Given the description of an element on the screen output the (x, y) to click on. 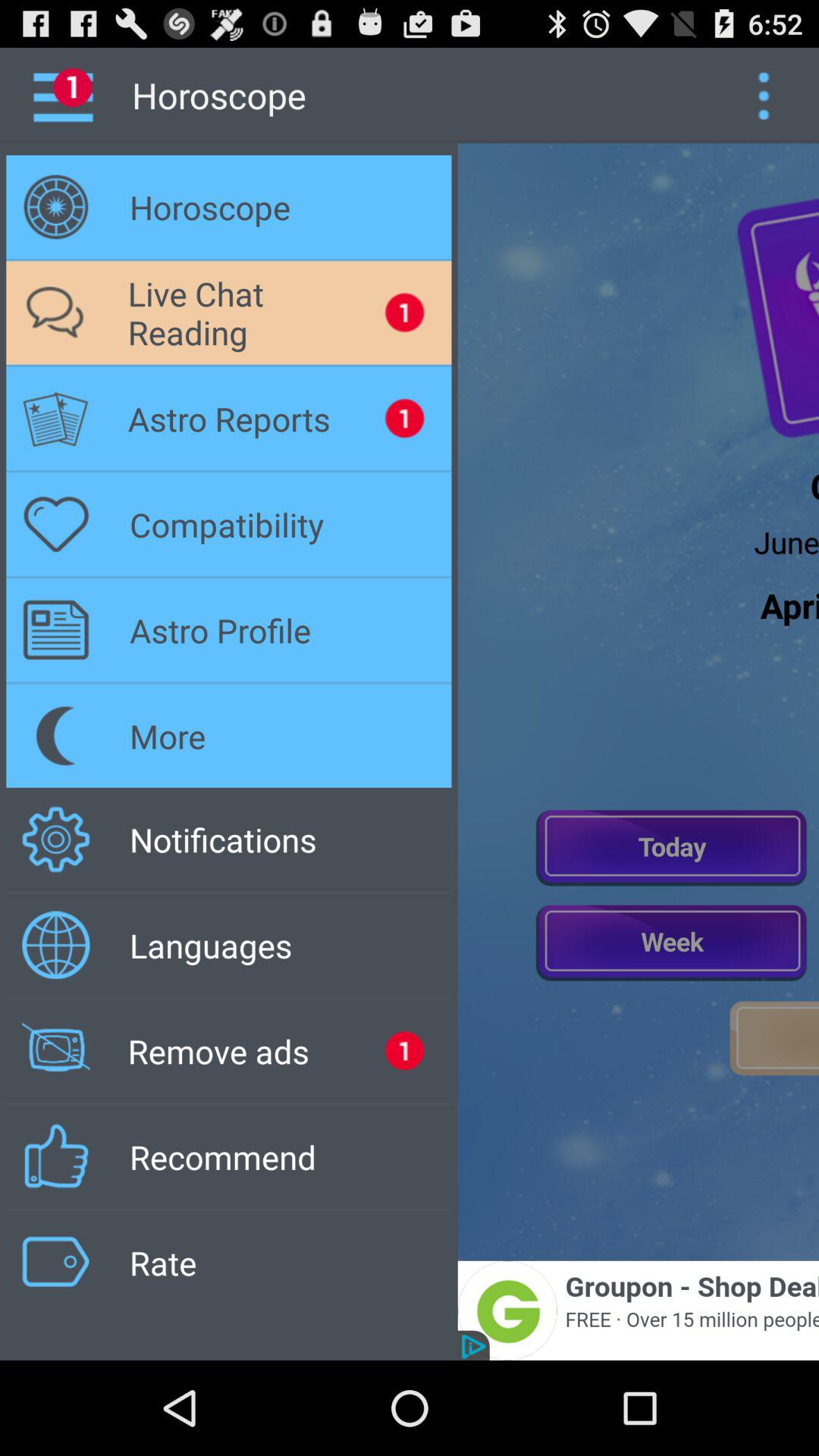
view current day information (671, 845)
